Given the description of an element on the screen output the (x, y) to click on. 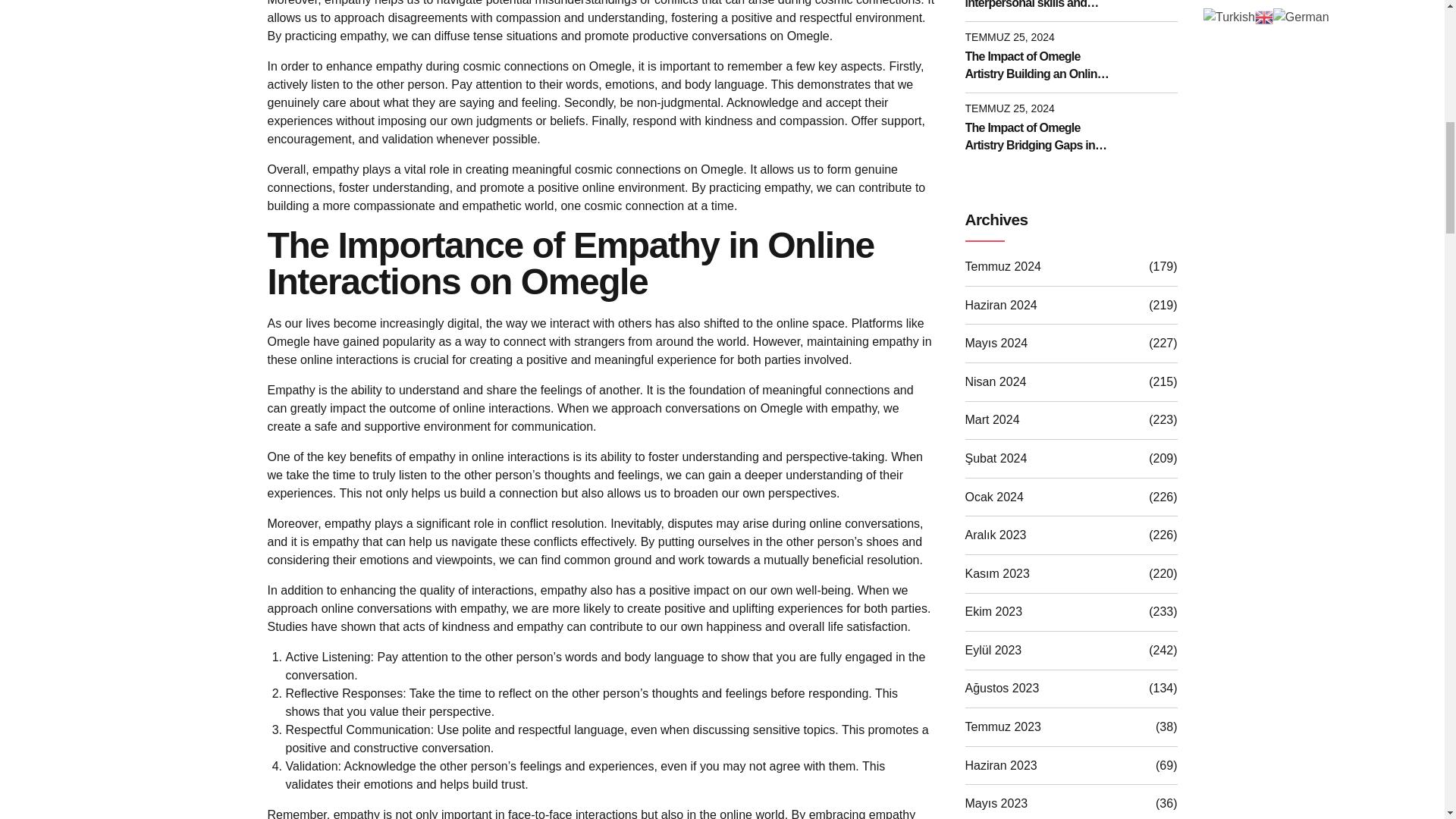
The impact of Omegle on interpersonal skills and empathy (1038, 6)
The impact of Omegle on interpersonal skills and empathy (1038, 6)
Haziran 2024 (999, 305)
Temmuz 2024 (1002, 266)
